Given the description of an element on the screen output the (x, y) to click on. 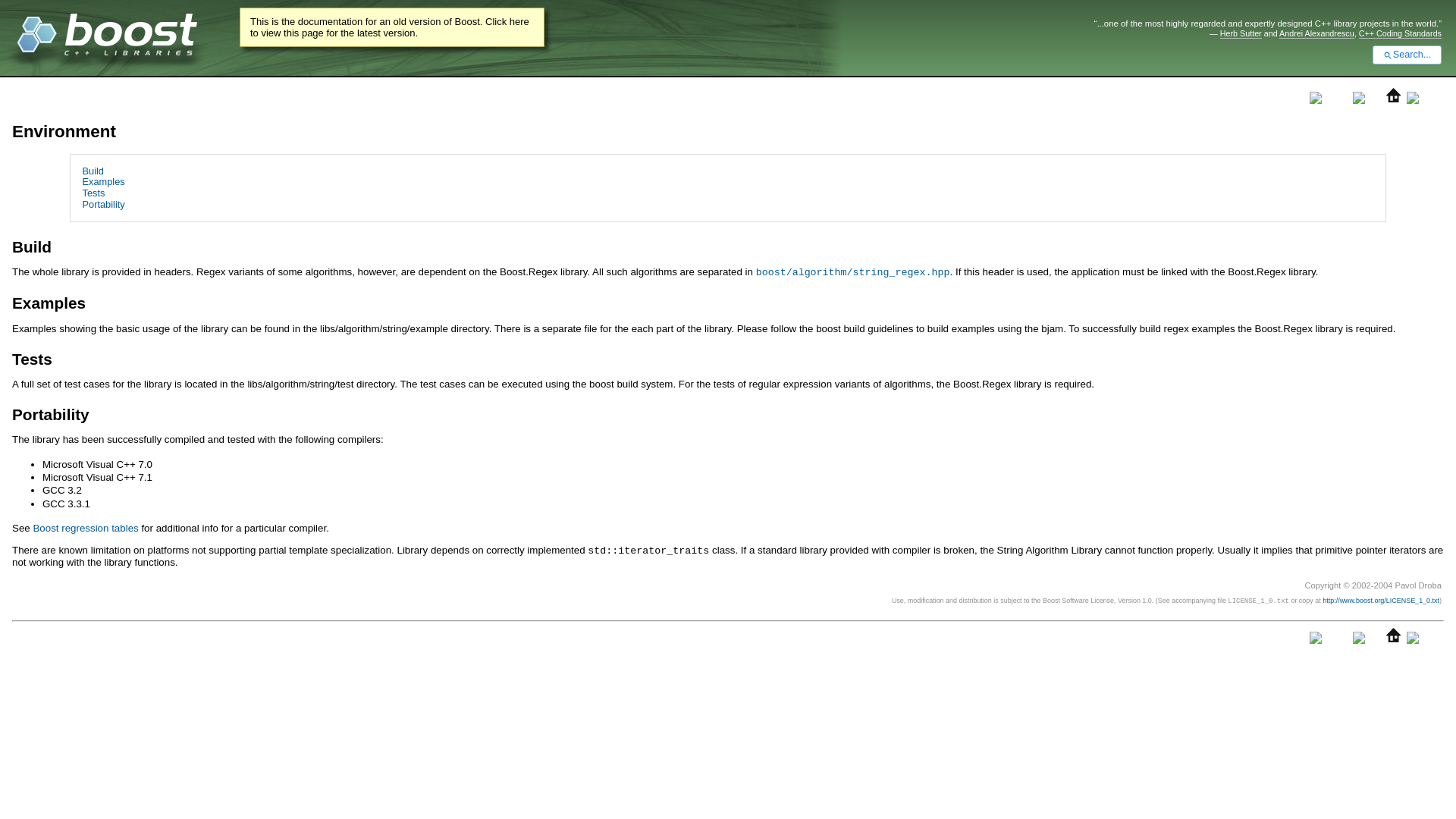
Herb Sutter (1241, 33)
Andrei Alexandrescu (1316, 33)
Boost regression tables (85, 527)
Examples (103, 181)
Portability (103, 204)
Tests (93, 193)
Build (92, 170)
